Given the description of an element on the screen output the (x, y) to click on. 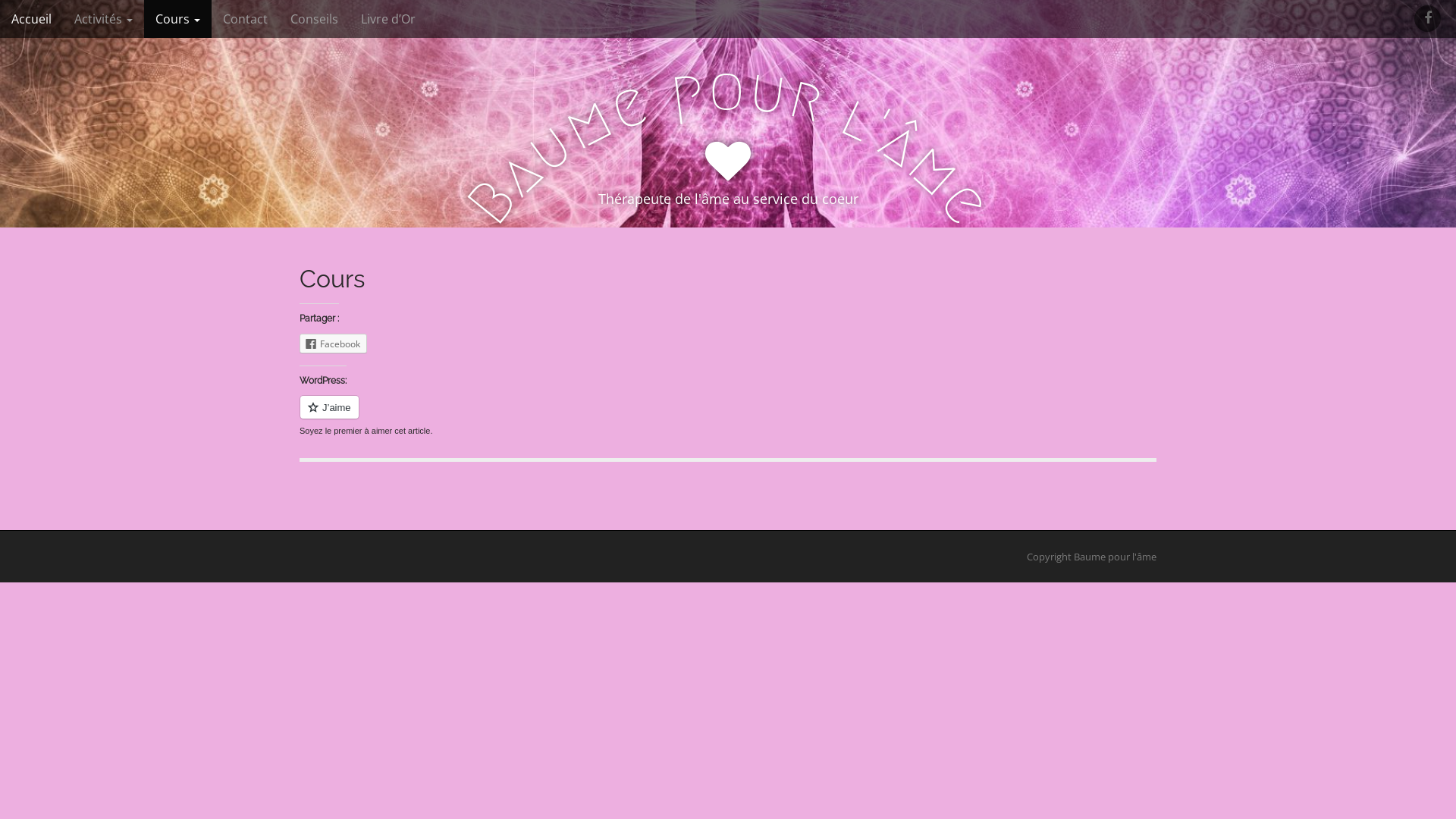
Cours Element type: text (177, 18)
Facebook Element type: text (333, 343)
Contact Element type: text (245, 18)
Conseils Element type: text (314, 18)
Accueil Element type: text (31, 18)
